Given the description of an element on the screen output the (x, y) to click on. 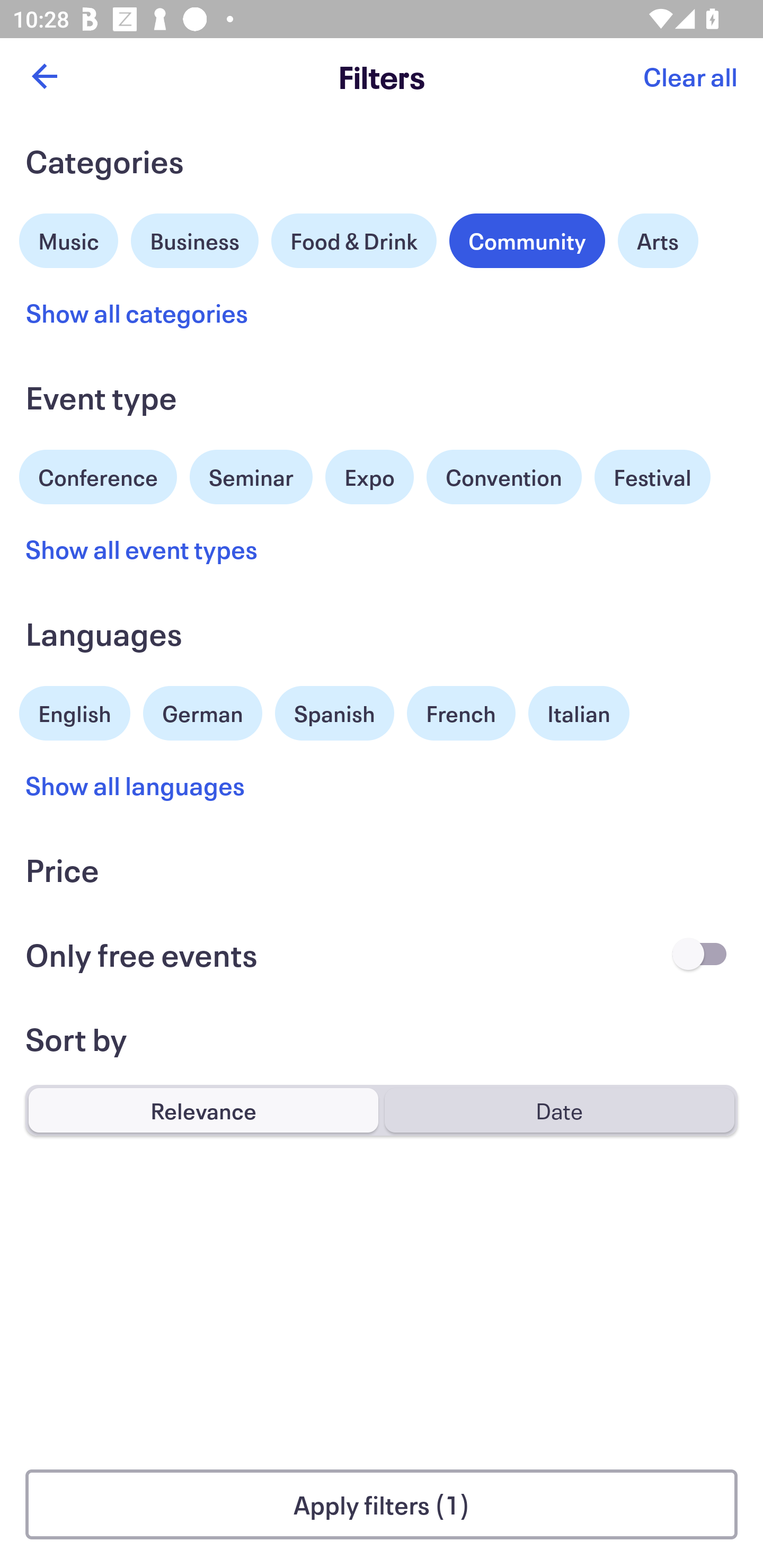
Back button (44, 75)
Clear all (690, 75)
Music (68, 238)
Business (194, 238)
Food & Drink (353, 240)
Community (527, 240)
Arts (658, 240)
Show all categories (136, 312)
Conference (98, 475)
Seminar (250, 477)
Expo (369, 477)
Convention (503, 477)
Festival (652, 477)
Show all event types (141, 548)
English (74, 710)
German (202, 710)
Spanish (334, 713)
French (460, 713)
Italian (578, 713)
Show all languages (135, 784)
Relevance (203, 1109)
Date (559, 1109)
Apply filters (1) (381, 1504)
